Given the description of an element on the screen output the (x, y) to click on. 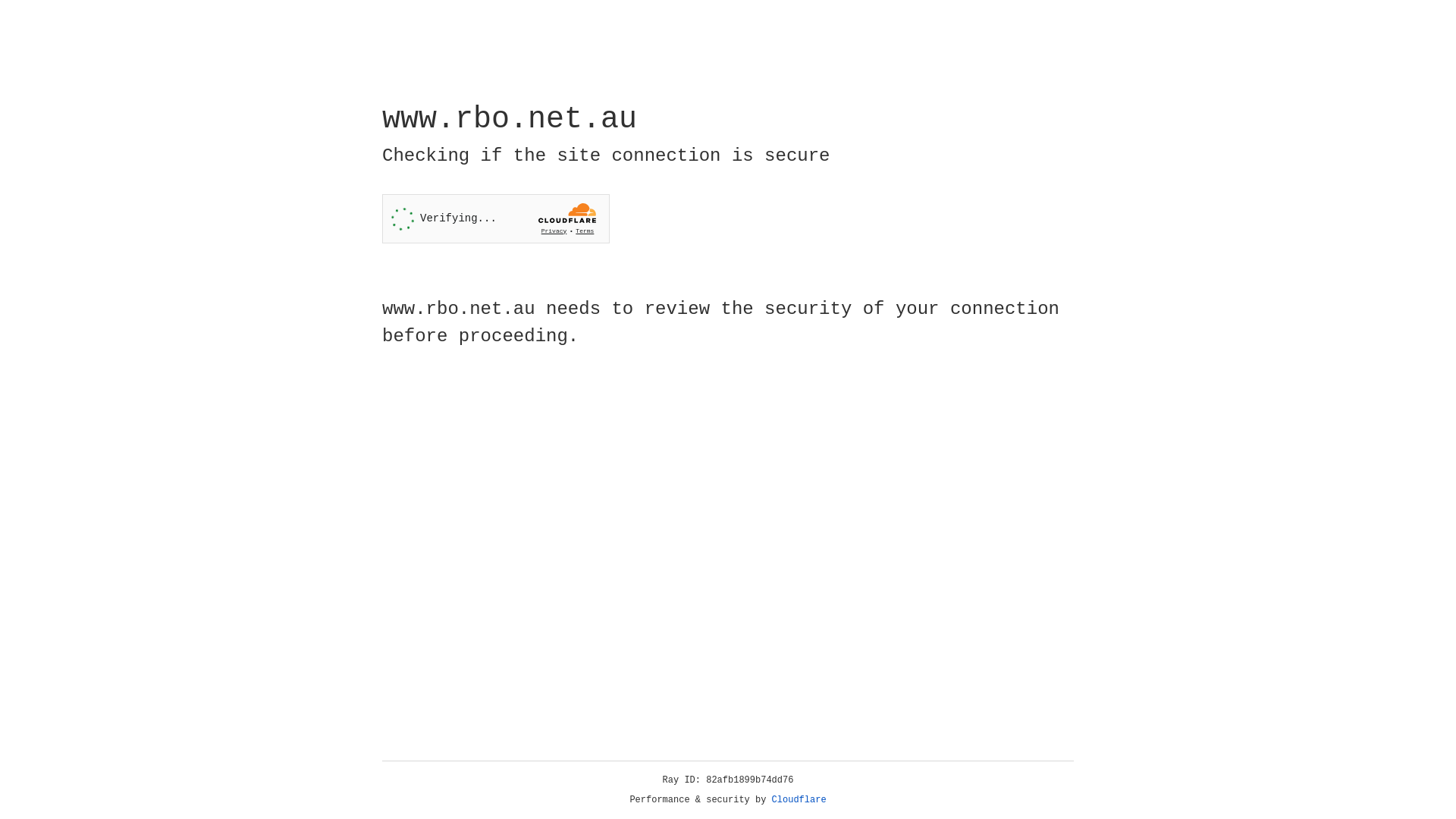
Widget containing a Cloudflare security challenge Element type: hover (495, 218)
Cloudflare Element type: text (798, 799)
